Given the description of an element on the screen output the (x, y) to click on. 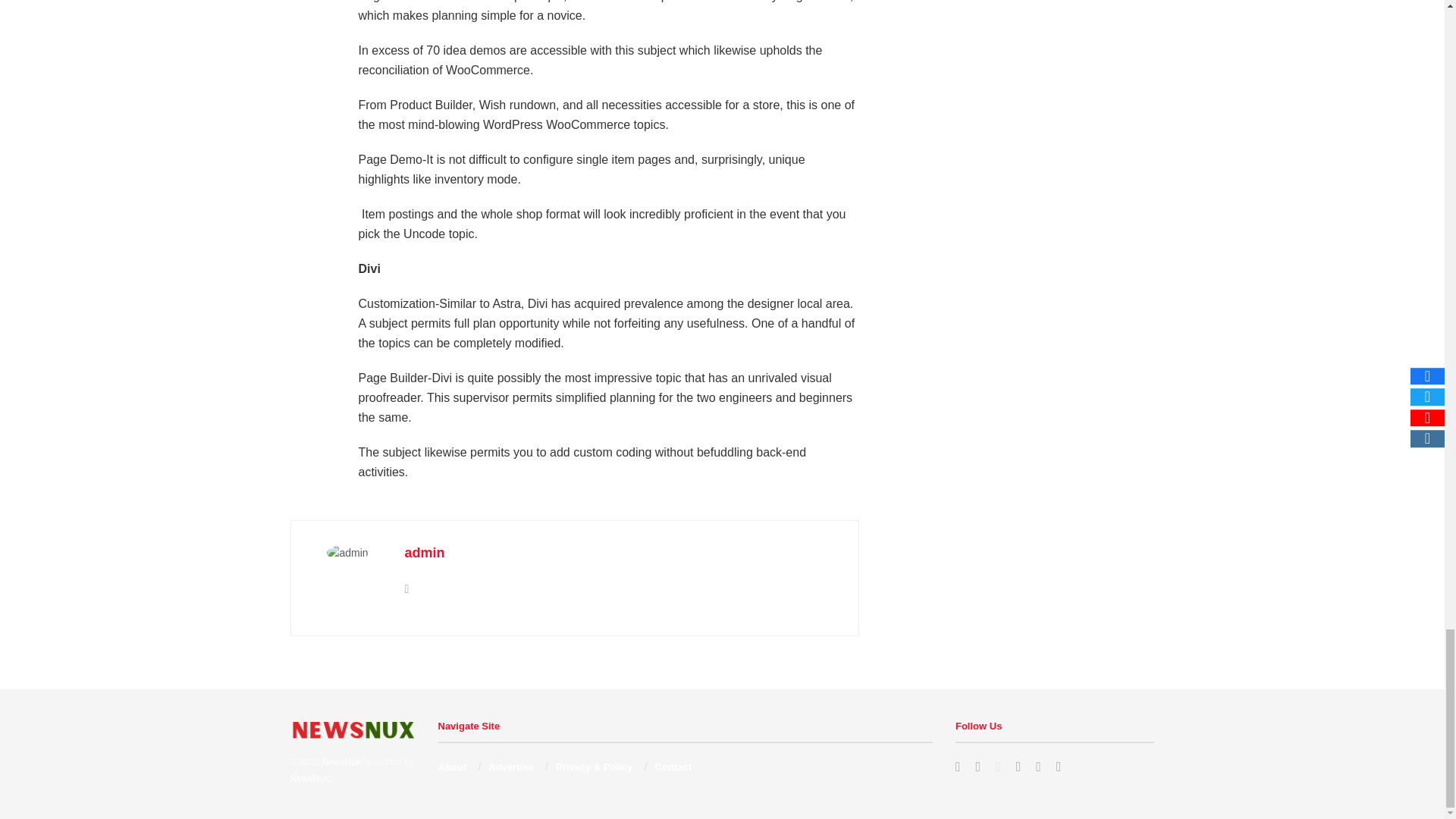
NewsNux (309, 778)
News Portal (341, 761)
